Given the description of an element on the screen output the (x, y) to click on. 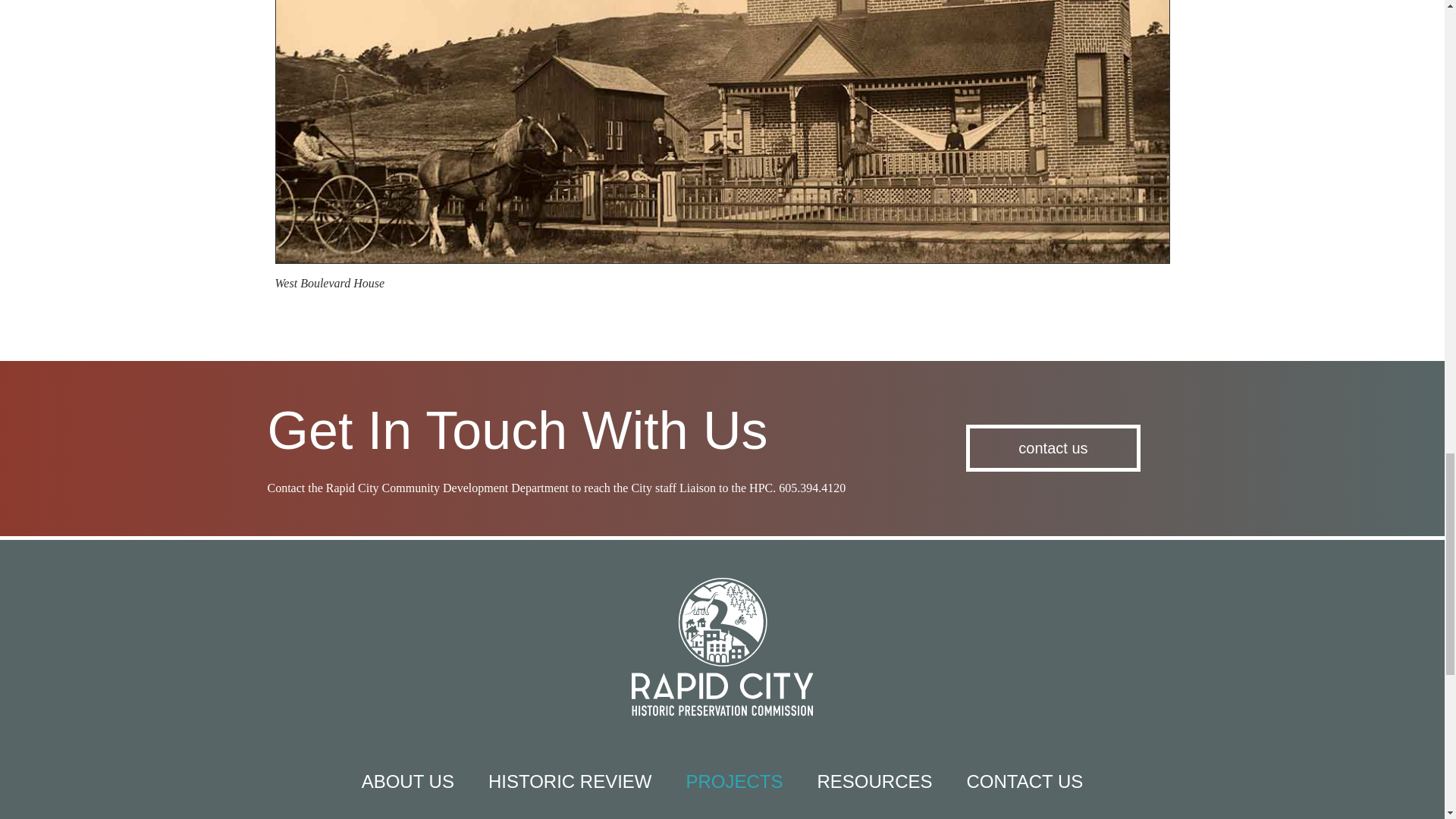
PROJECTS (734, 781)
HISTORIC REVIEW (569, 781)
RESOURCES (874, 781)
ABOUT US (407, 781)
contact us (1053, 448)
CONTACT US (1024, 781)
